Given the description of an element on the screen output the (x, y) to click on. 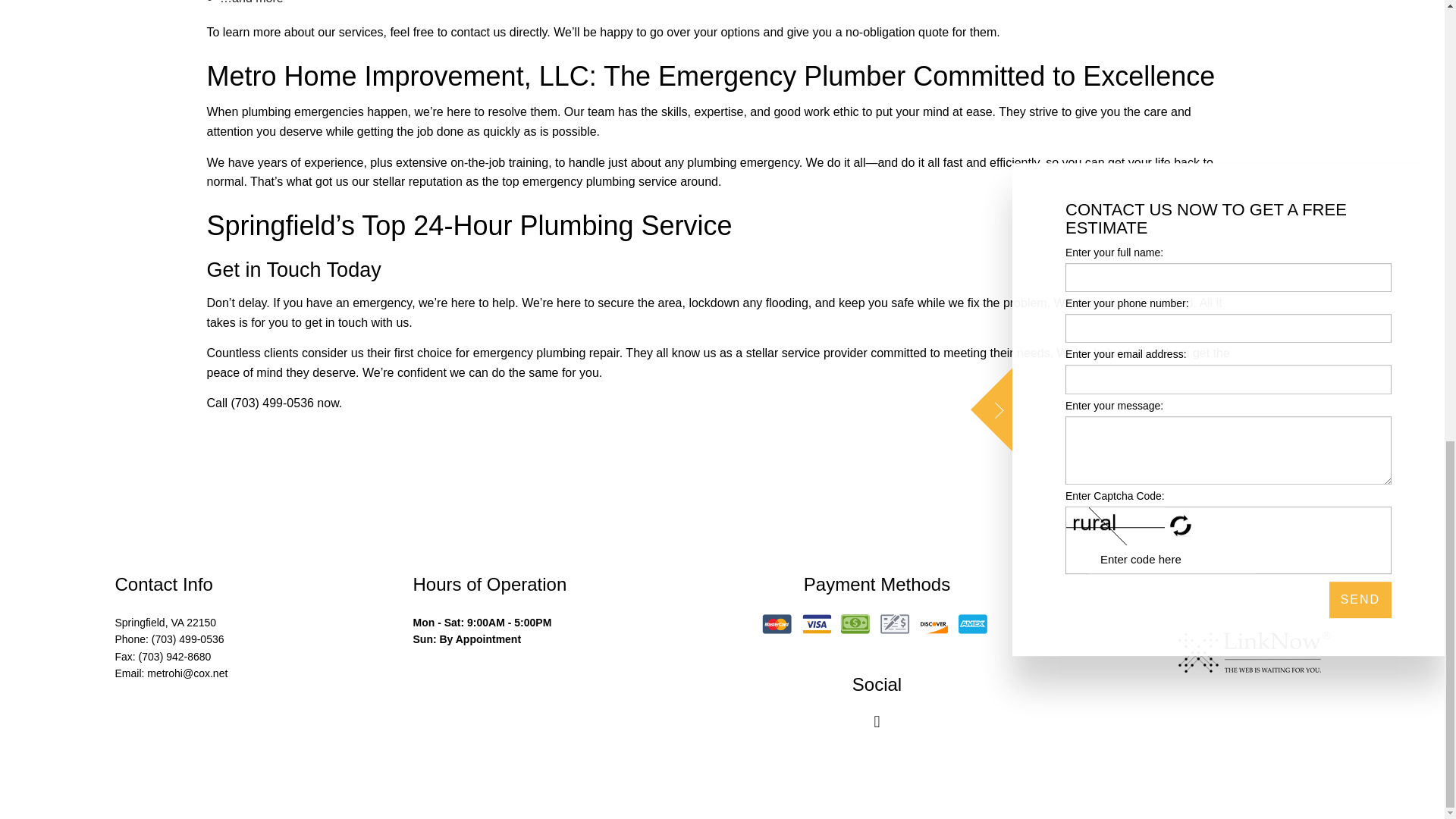
Mastercard (777, 623)
Cash (855, 623)
Visa (816, 623)
American Express (972, 623)
Discover (933, 623)
Metro Home Improvement, LLC's Facebook (876, 722)
Check (895, 623)
